Given the description of an element on the screen output the (x, y) to click on. 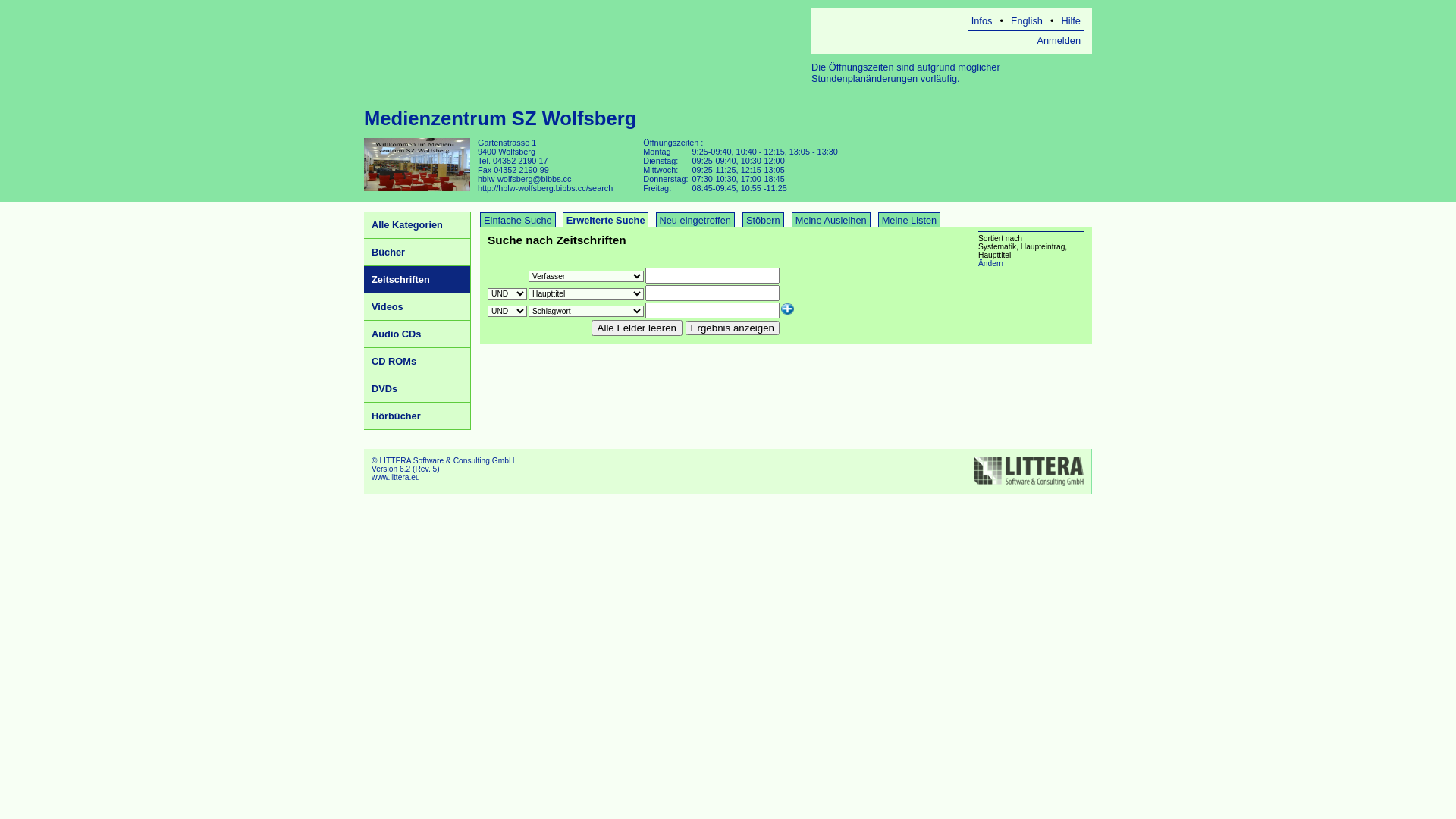
Medienzentrum SZ Wolfsberg Element type: text (500, 117)
hblw-wolfsberg@bibbs.cc Element type: text (524, 178)
Zeitschriften Element type: text (417, 279)
Alle Felder leeren Element type: text (636, 327)
DVDs Element type: text (417, 388)
Meine Listen Element type: text (909, 219)
Meine Ausleihen Element type: text (830, 219)
Alle Kategorien Element type: text (417, 224)
Audio CDs Element type: text (417, 334)
Videos Element type: text (417, 306)
CD ROMs Element type: text (417, 361)
Erweiterte Suche Element type: text (605, 219)
Einfache Suche Element type: text (517, 219)
Neu eingetroffen Element type: text (694, 219)
Infos Element type: text (981, 21)
Hilfe Element type: text (1070, 21)
Anmelden Element type: text (1058, 40)
www.littera.eu Element type: text (395, 477)
English Element type: text (1026, 21)
Ergebnis anzeigen Element type: text (732, 327)
http://hblw-wolfsberg.bibbs.cc/search Element type: text (544, 187)
